Given the description of an element on the screen output the (x, y) to click on. 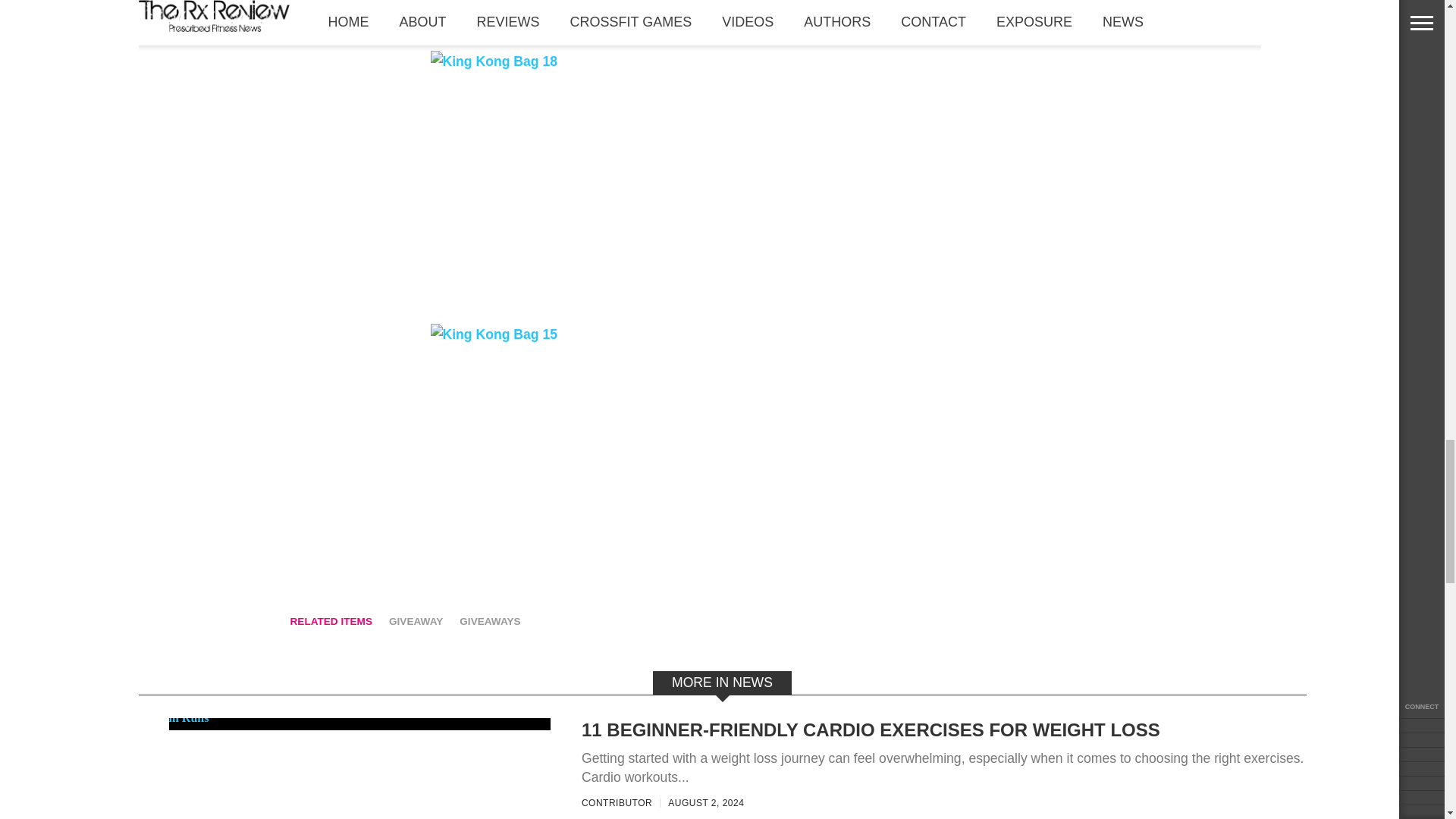
11 Beginner-Friendly Cardio Exercises for Weight Loss (173, 717)
